Given the description of an element on the screen output the (x, y) to click on. 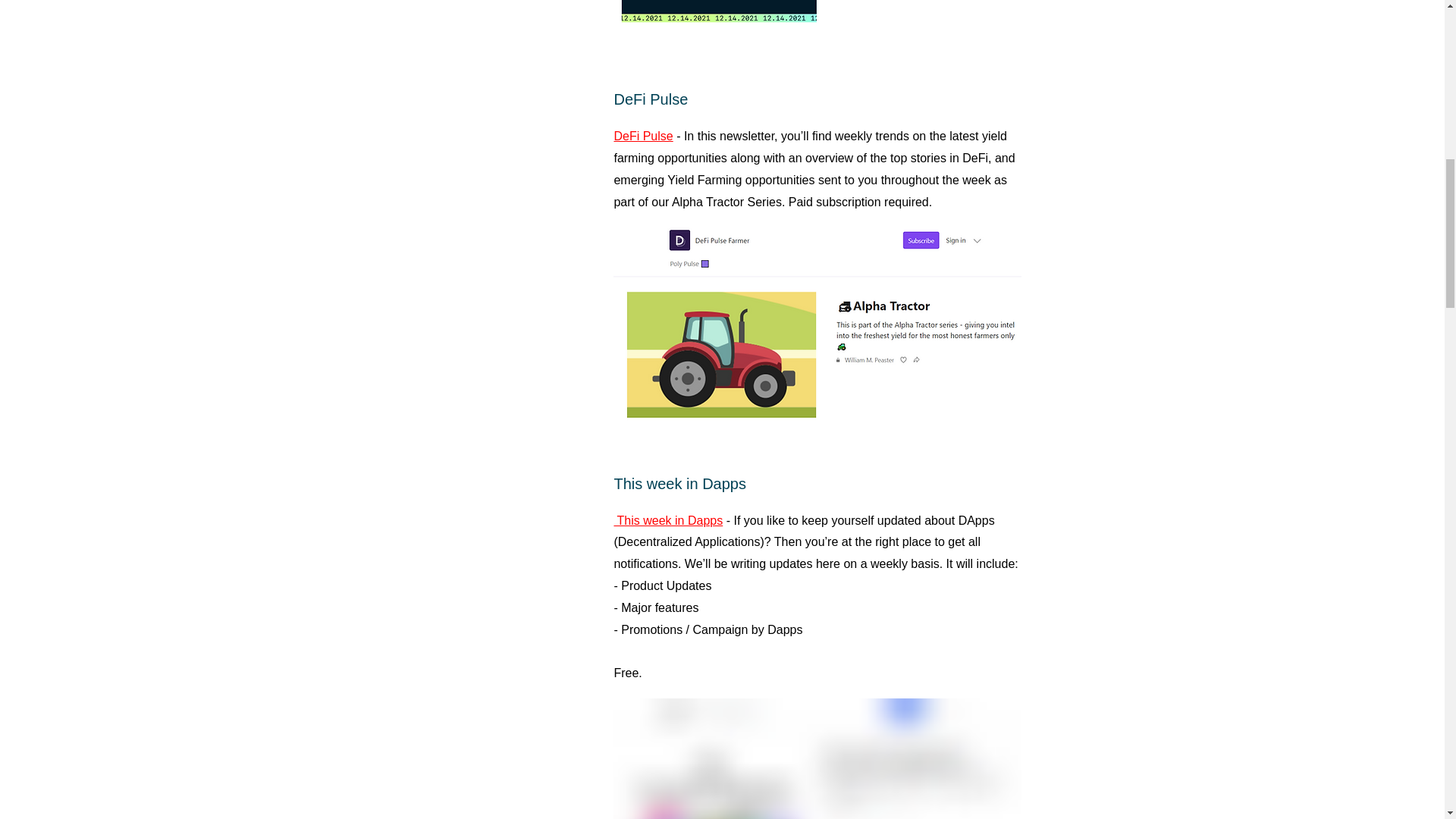
DeFi Pulse (642, 135)
 This week in Dapps (667, 520)
